Given the description of an element on the screen output the (x, y) to click on. 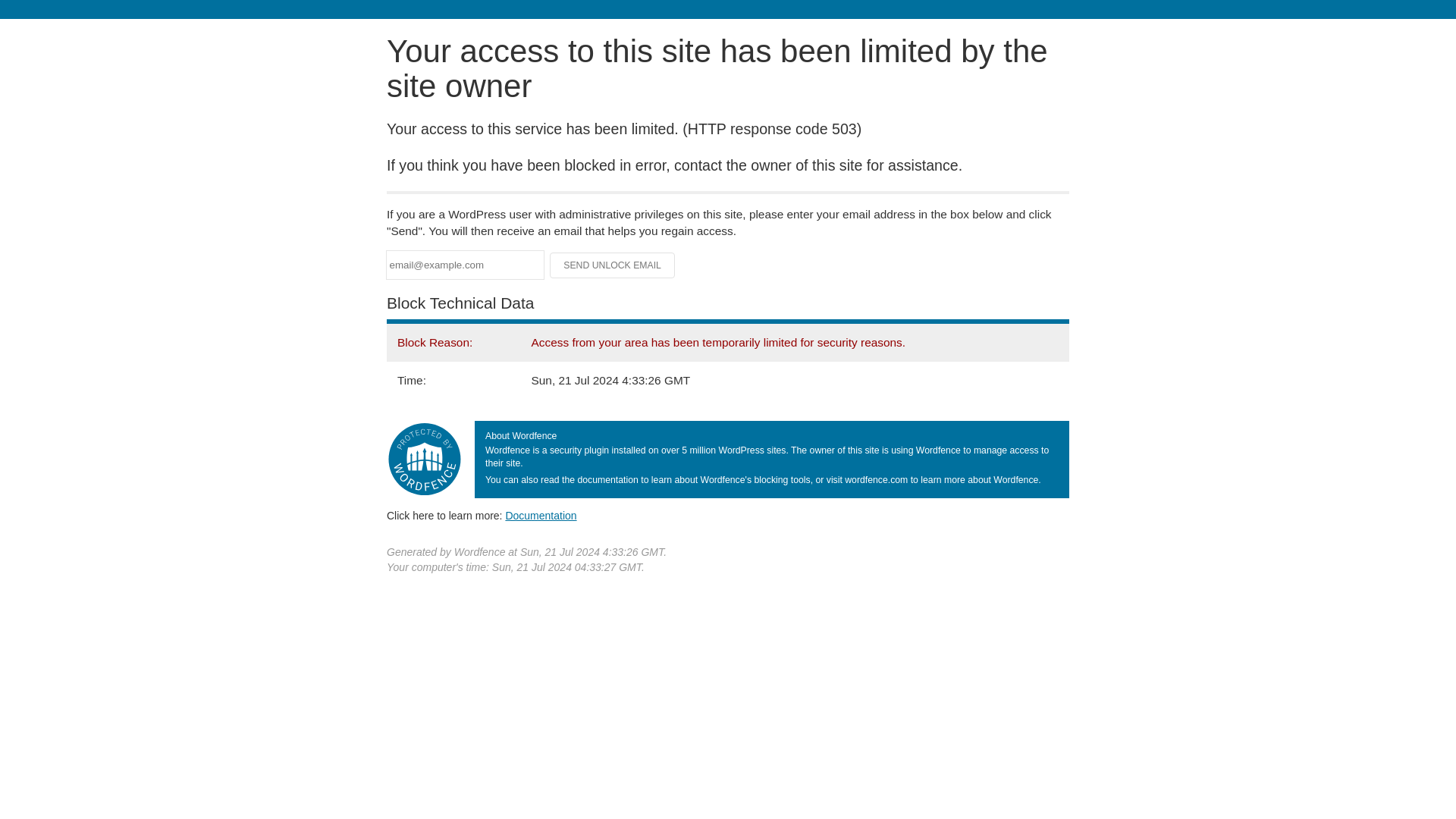
Send Unlock Email (612, 265)
Send Unlock Email (612, 265)
Documentation (540, 515)
